Given the description of an element on the screen output the (x, y) to click on. 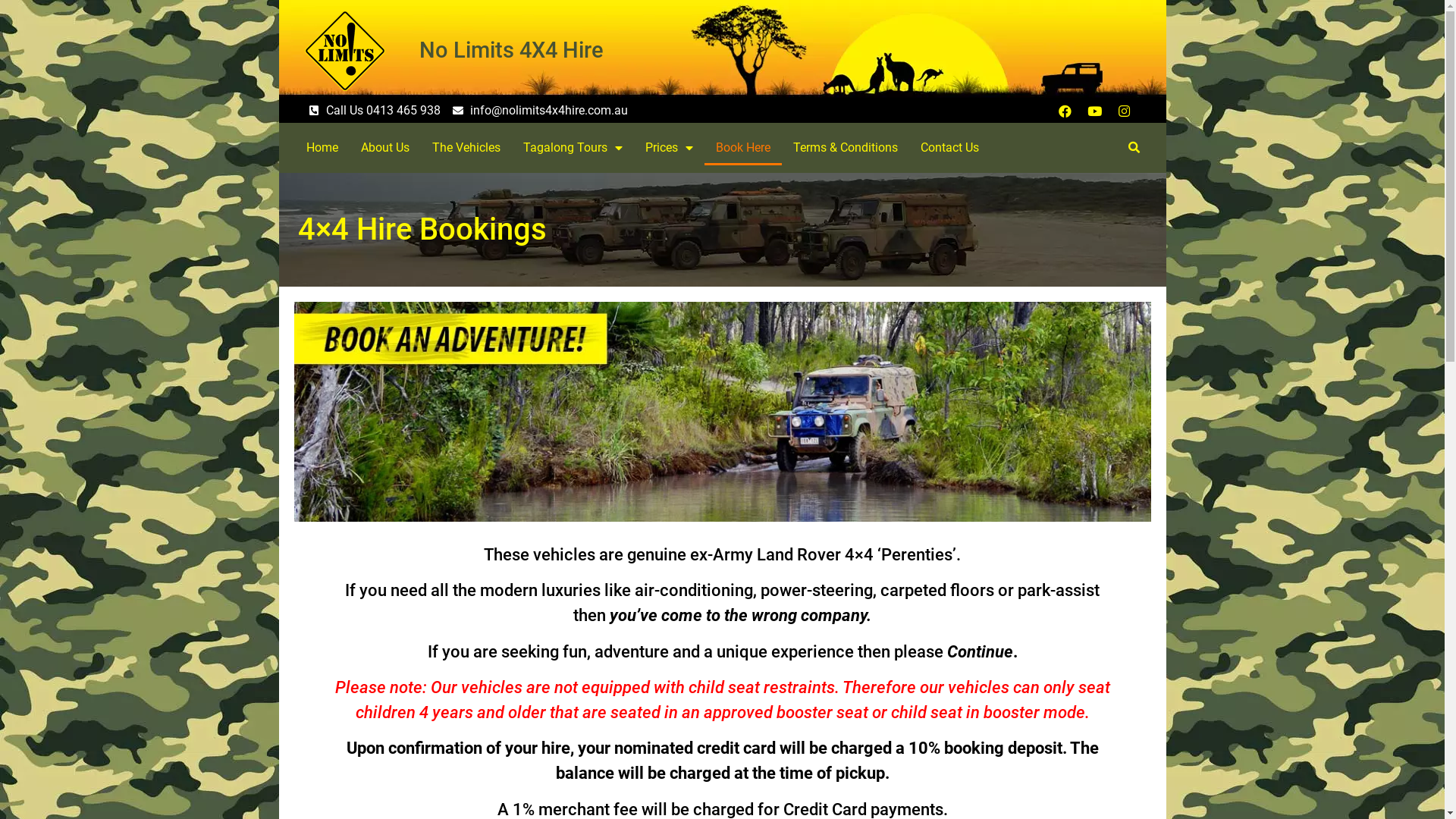
About Us Element type: text (384, 147)
The Vehicles Element type: text (465, 147)
Home Element type: text (321, 147)
Contact Us Element type: text (949, 147)
Terms & Conditions Element type: text (845, 147)
No Limits 4X4 Hire Element type: text (511, 49)
Book Here Element type: text (742, 147)
Call Us 0413 465 938 Element type: text (375, 110)
info@nolimits4x4hire.com.au Element type: text (539, 110)
Prices Element type: text (668, 147)
Tagalong Tours Element type: text (572, 147)
